Given the description of an element on the screen output the (x, y) to click on. 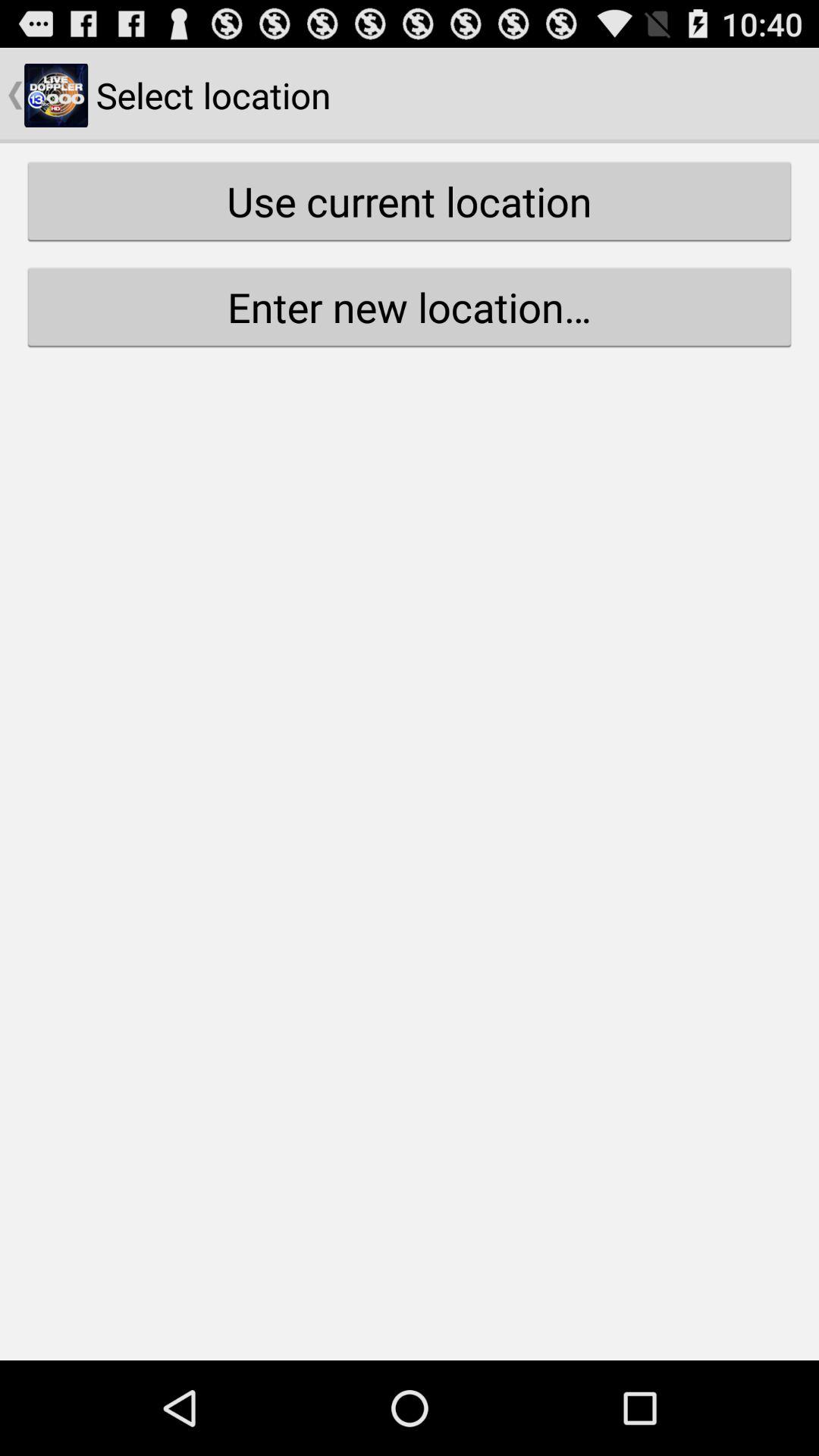
swipe to use current location (409, 201)
